Given the description of an element on the screen output the (x, y) to click on. 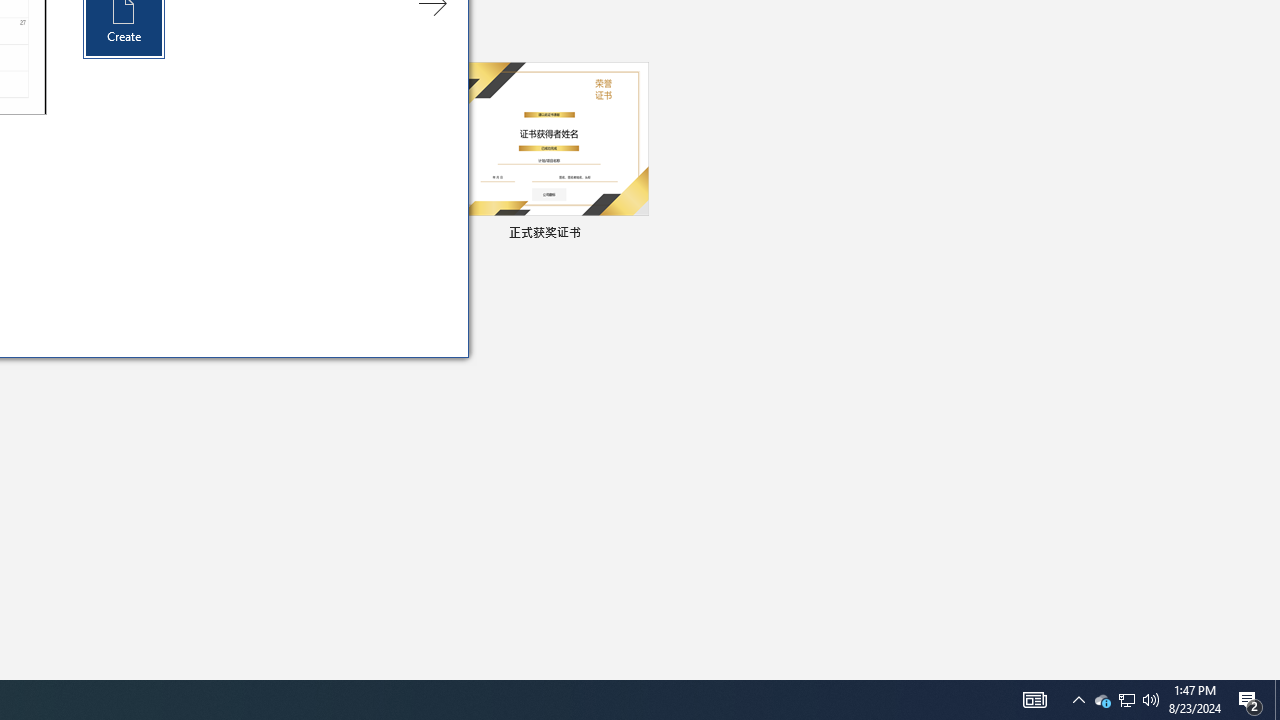
Action Center, 2 new notifications (1250, 699)
Notification Chevron (1078, 699)
Q2790: 100% (1151, 699)
Pin to list (1126, 699)
Show desktop (635, 234)
User Promoted Notification Area (1277, 699)
AutomationID: 4105 (1126, 699)
